Given the description of an element on the screen output the (x, y) to click on. 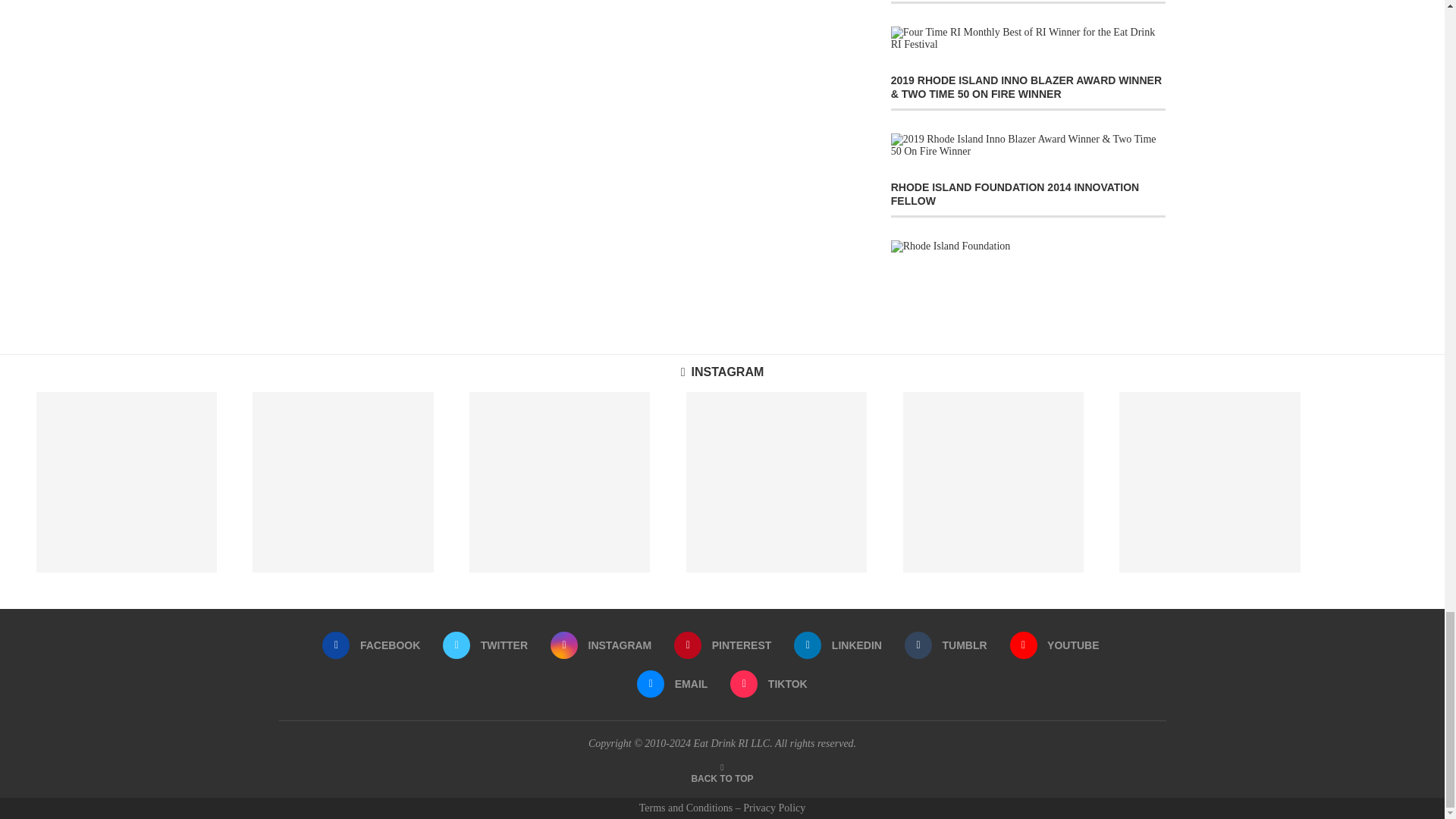
Rhode Island Foundation 2014 Innovation Fellow (950, 246)
Swipe through for all the pics and the first photo... (126, 482)
You asked for an unboxing, you got one! Thank you... (992, 482)
